Given the description of an element on the screen output the (x, y) to click on. 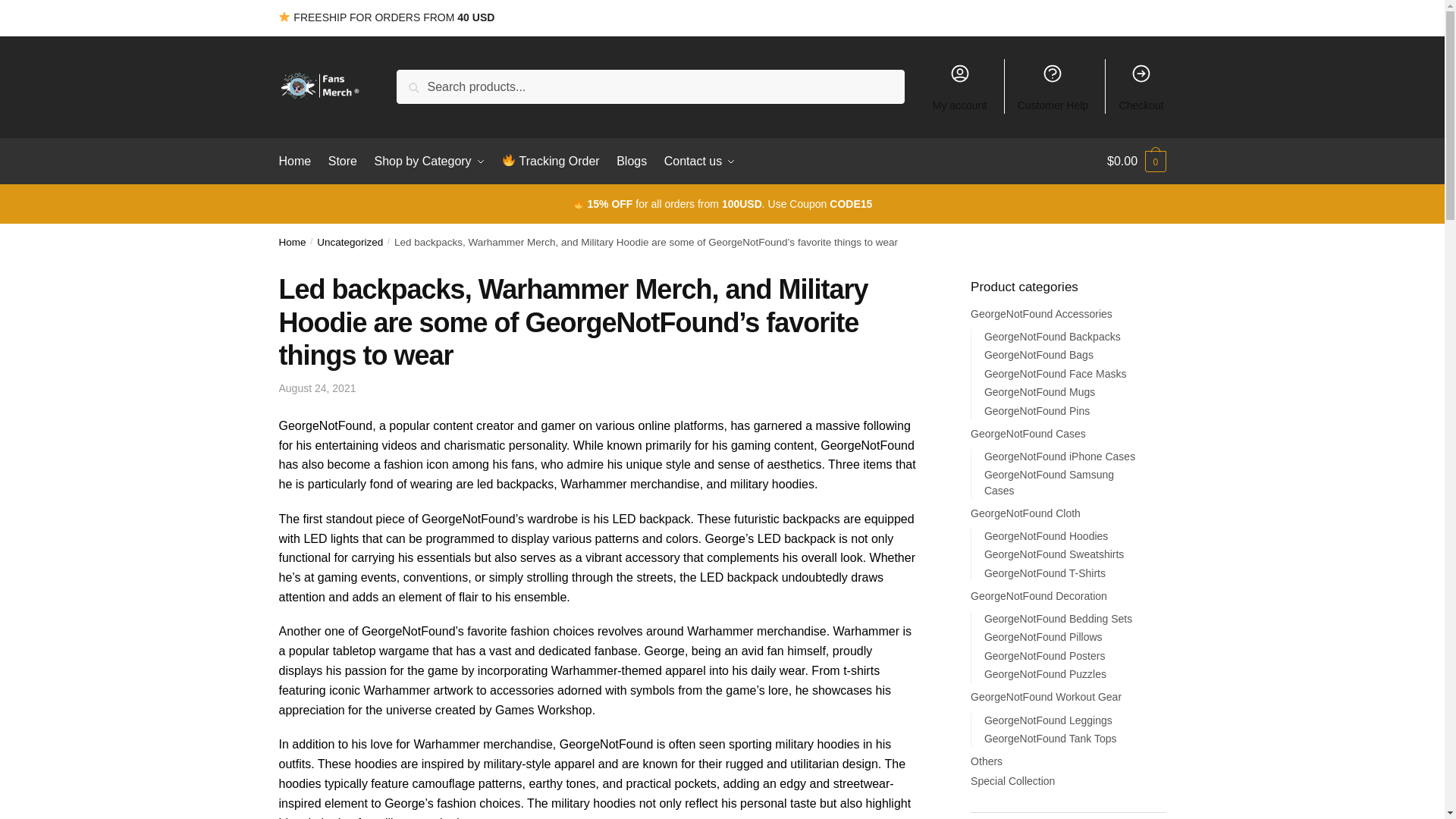
View your shopping cart (1136, 161)
Store (342, 161)
Search (420, 79)
My account (959, 86)
Checkout (1141, 86)
Customer Help (1053, 86)
Shop by Category (430, 161)
